Given the description of an element on the screen output the (x, y) to click on. 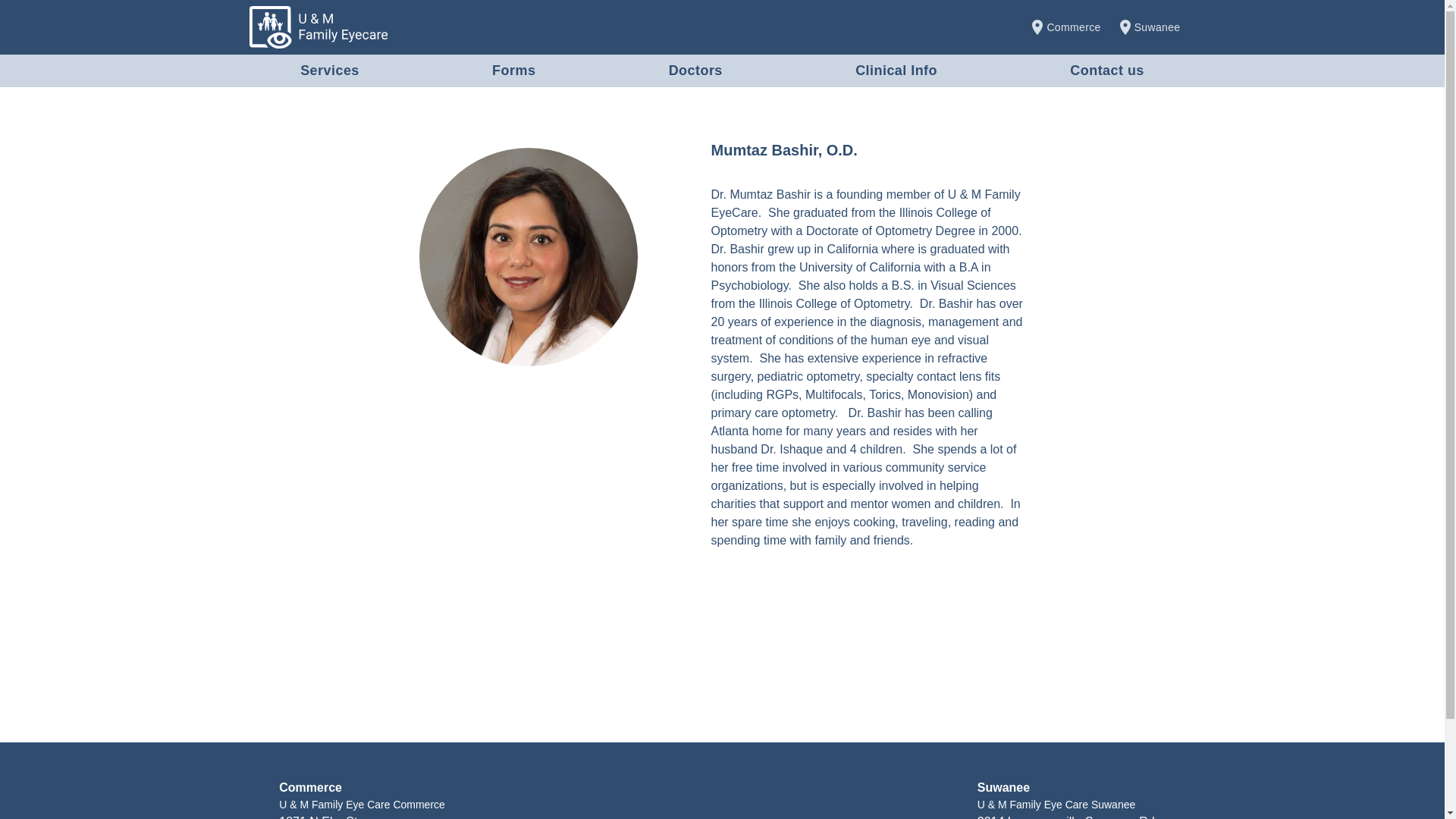
Contact us (1107, 70)
Doctors (695, 70)
Suwanee (1148, 27)
Commerce (310, 787)
Services (329, 70)
Suwanee (1002, 787)
Clinical Info (896, 70)
Commerce (1063, 27)
Forms (513, 70)
